Given the description of an element on the screen output the (x, y) to click on. 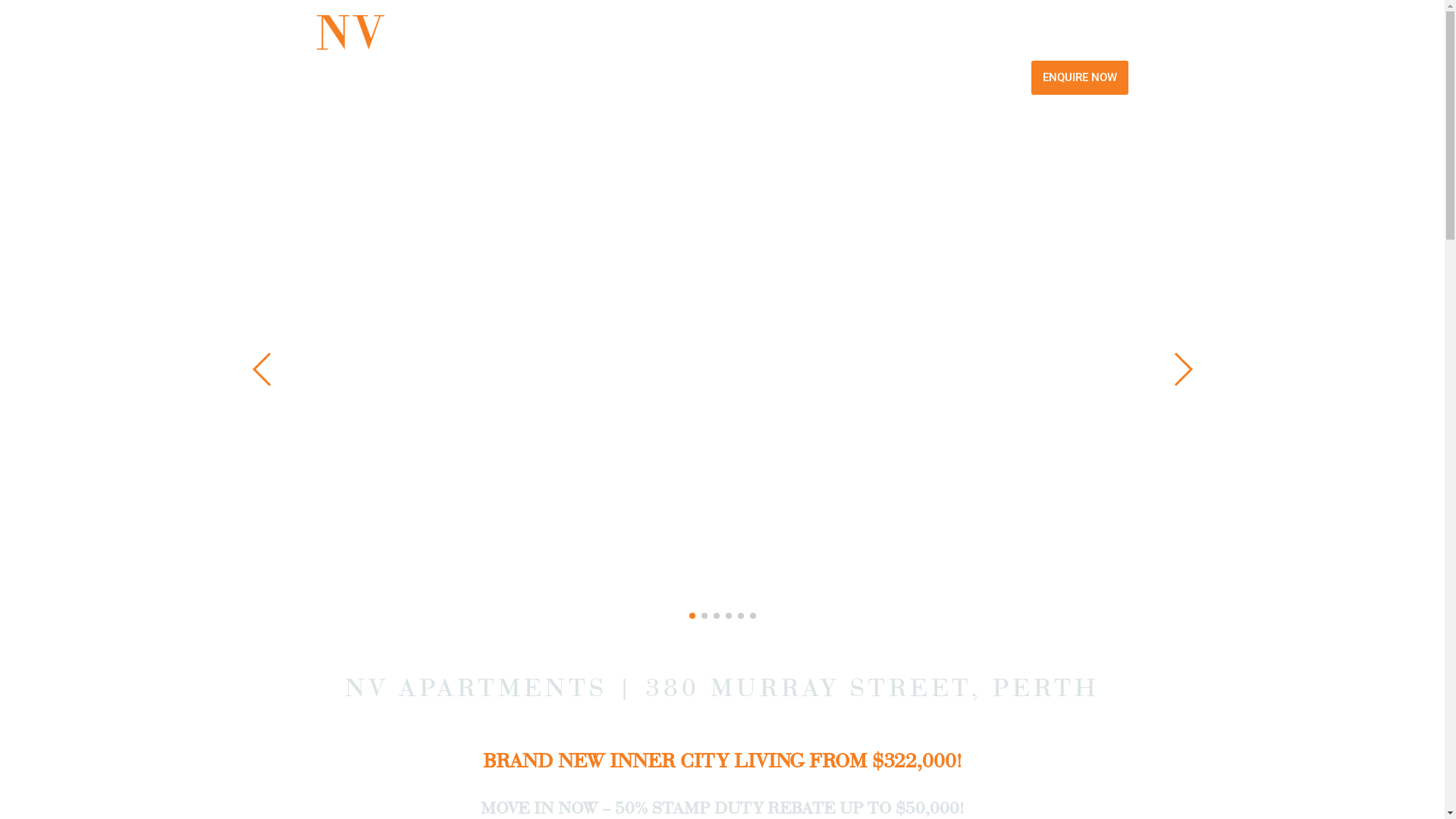
APARTMENTS Element type: text (369, 77)
PARTNERS Element type: text (936, 77)
GALLERY Element type: text (802, 77)
ENQUIRE NOW Element type: text (1079, 77)
NV LIFESTYLE Element type: text (514, 77)
LOCATION Element type: text (660, 77)
